Given the description of an element on the screen output the (x, y) to click on. 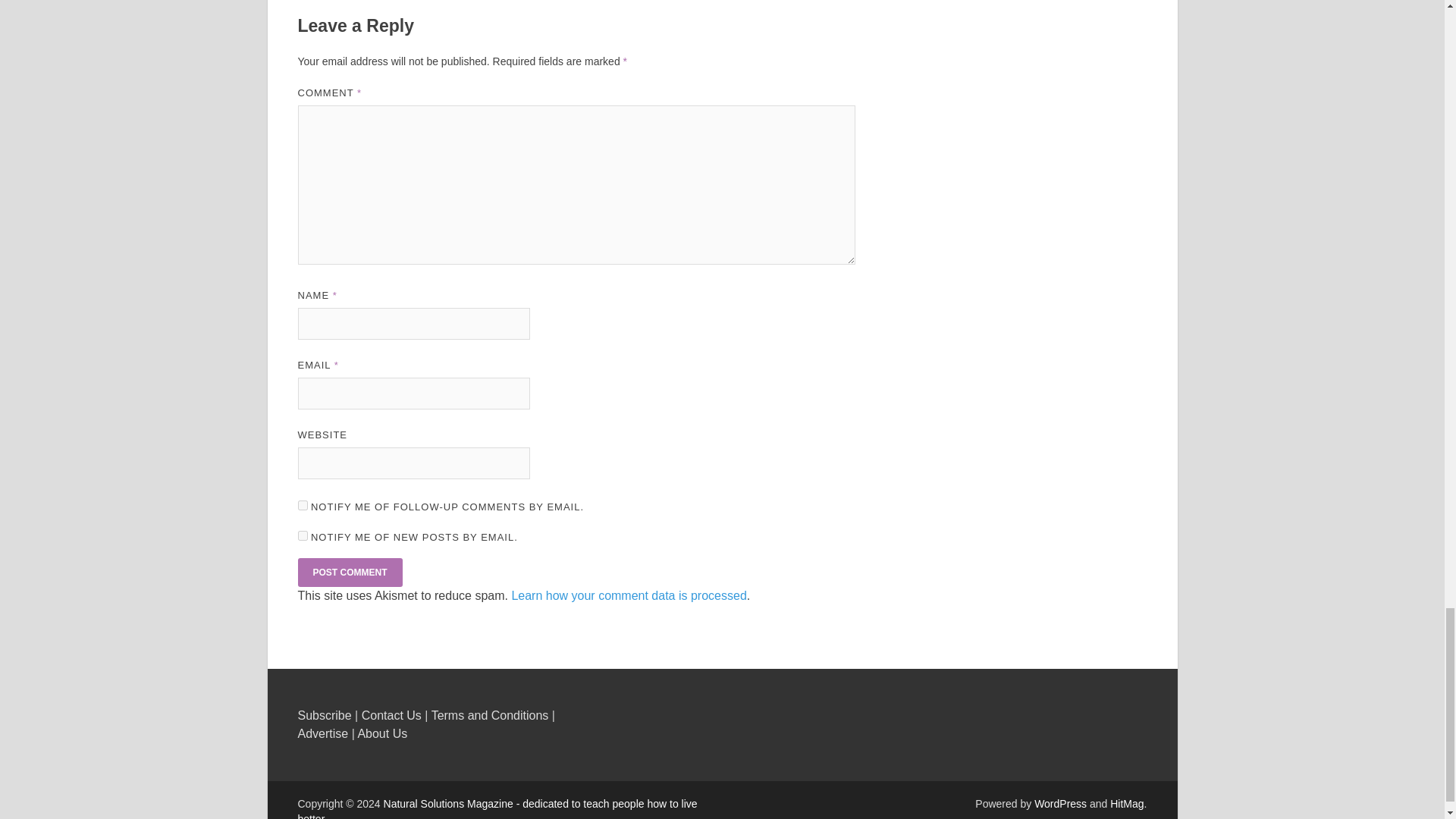
subscribe (302, 505)
Post Comment (349, 572)
subscribe (302, 535)
WordPress (1059, 803)
